Given the description of an element on the screen output the (x, y) to click on. 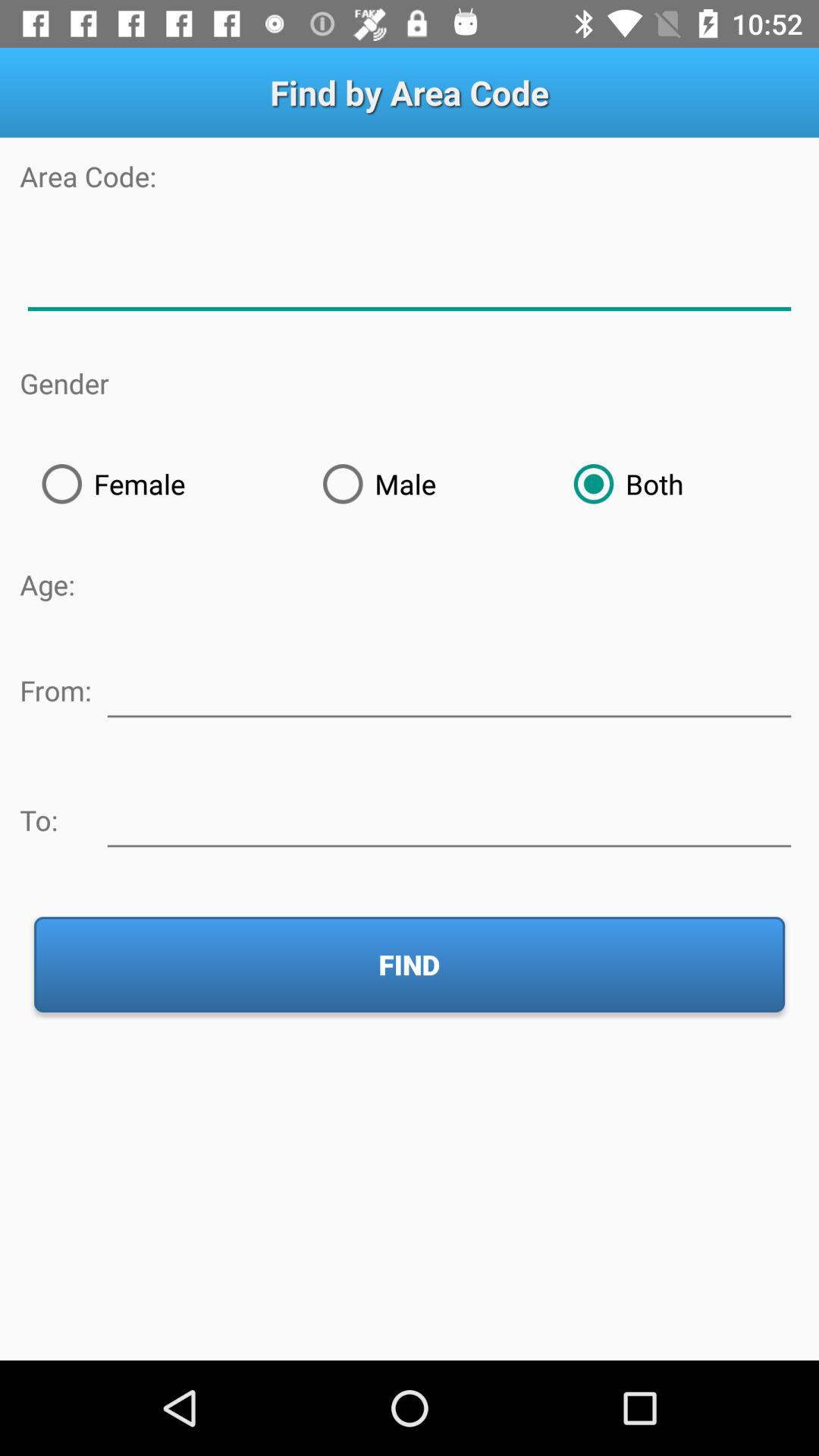
flip until the male (426, 483)
